Given the description of an element on the screen output the (x, y) to click on. 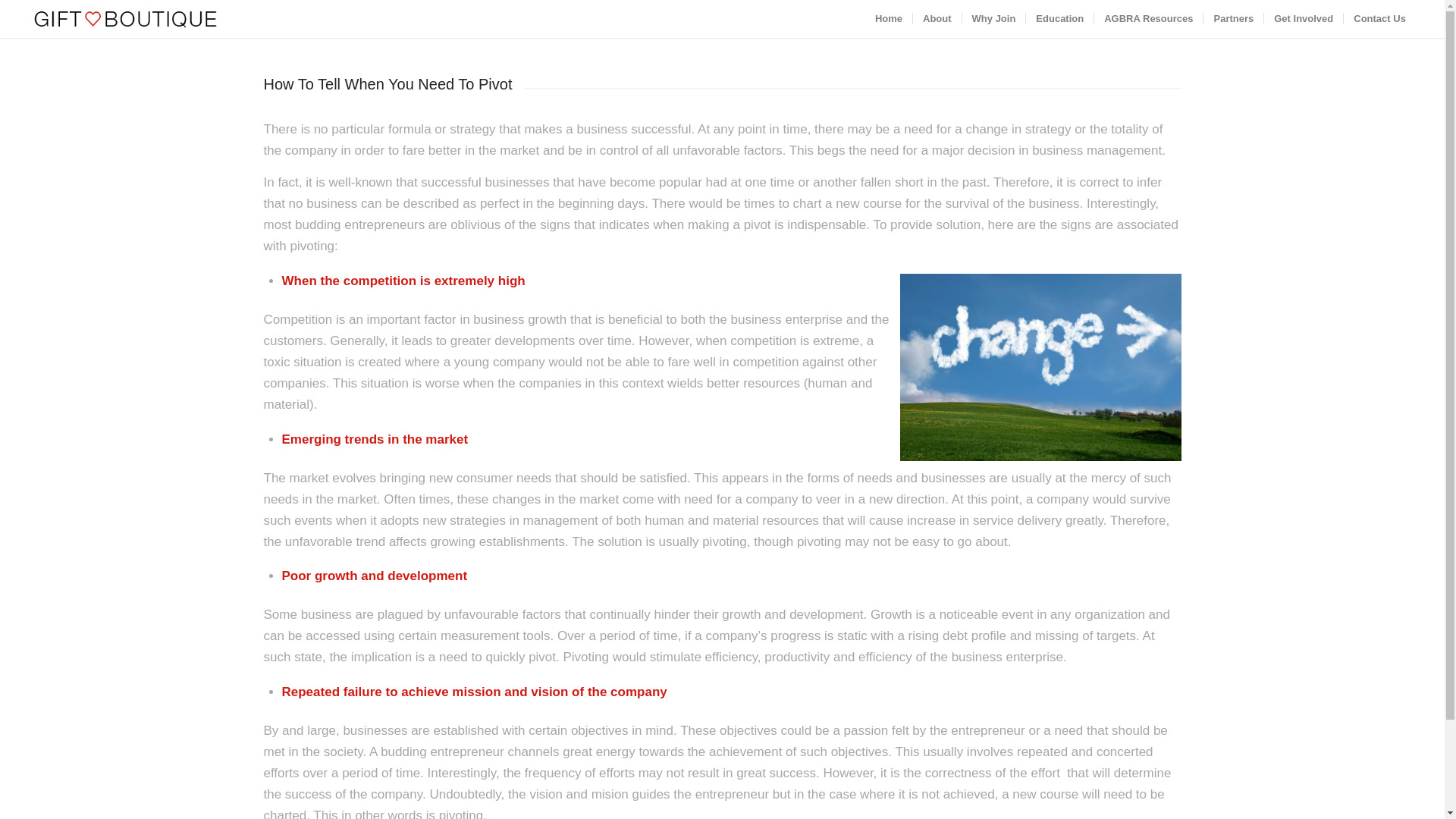
About (936, 18)
AGBRA Resources (1147, 18)
Why Join (993, 18)
Contact Us (1378, 18)
Partners (1232, 18)
Home (888, 18)
Get Involved (1302, 18)
GiftBoutique (126, 18)
Education (1059, 18)
